Given the description of an element on the screen output the (x, y) to click on. 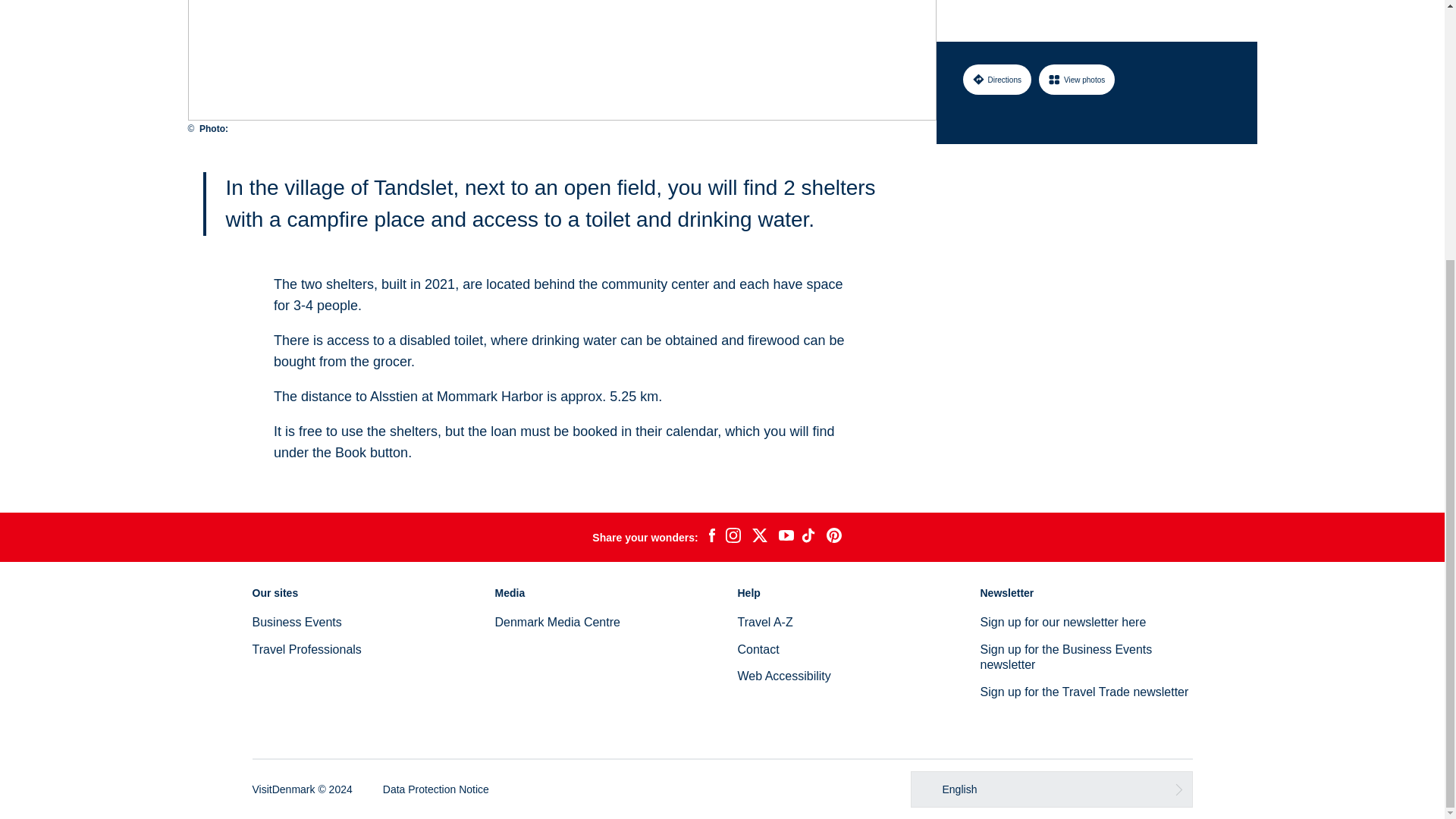
Travel A-Z (764, 621)
youtube (786, 537)
Web Accessibility (782, 675)
Sign up for the Business Events newsletter (1065, 656)
Contact (757, 649)
Contact (757, 649)
Web Accessibility (782, 675)
pinterest (834, 537)
twitter (759, 537)
Business Events (295, 621)
